Given the description of an element on the screen output the (x, y) to click on. 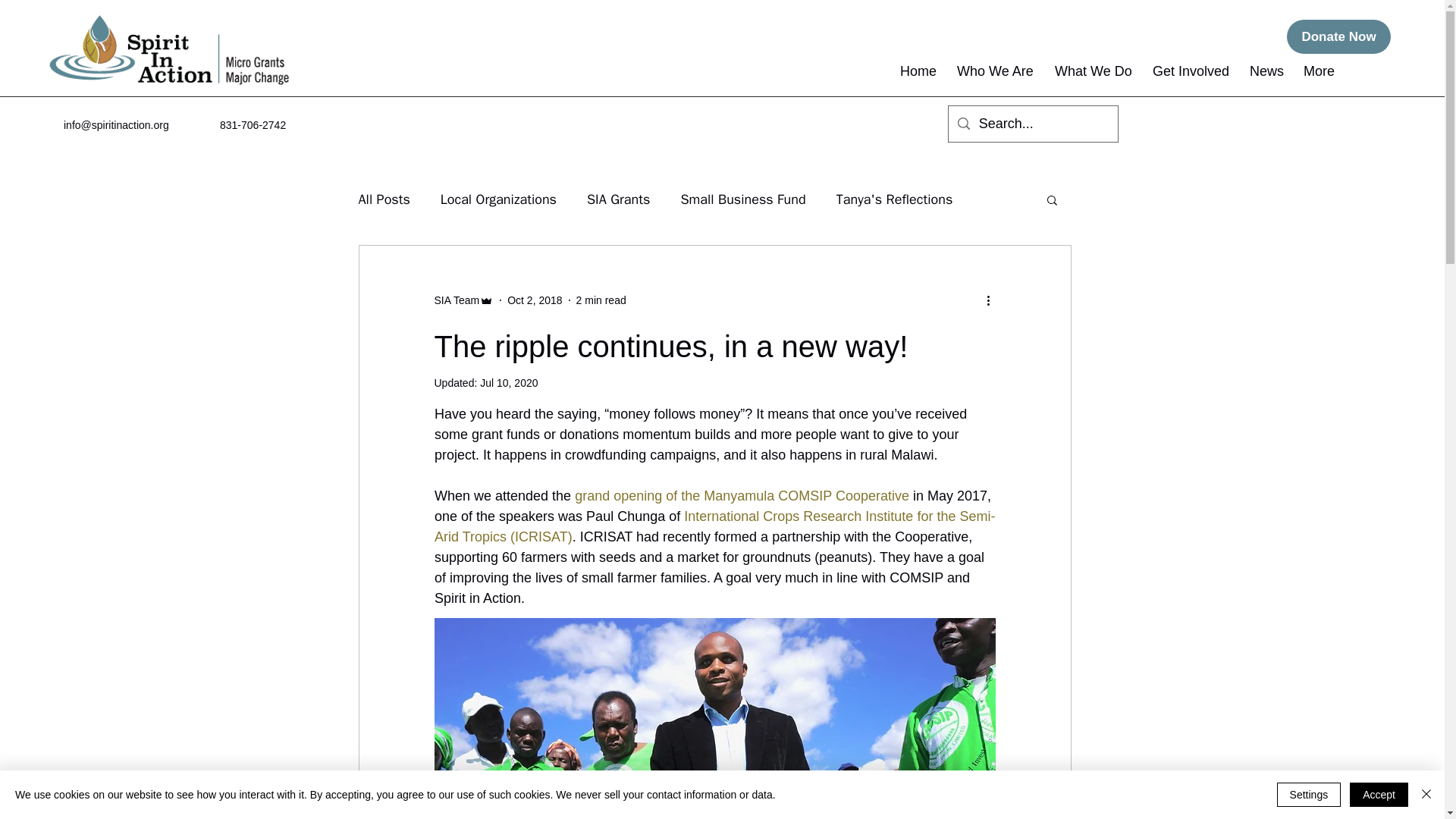
Home (920, 71)
SIA Team (456, 300)
SIA Team (463, 300)
Local Organizations (498, 199)
SIA Grants (617, 199)
Donate Now (1338, 36)
Jul 10, 2020 (508, 382)
grand opening of the Manyamula COMSIP Cooperative (741, 495)
Tanya's Reflections (894, 199)
Small Business Fund (742, 199)
